Given the description of an element on the screen output the (x, y) to click on. 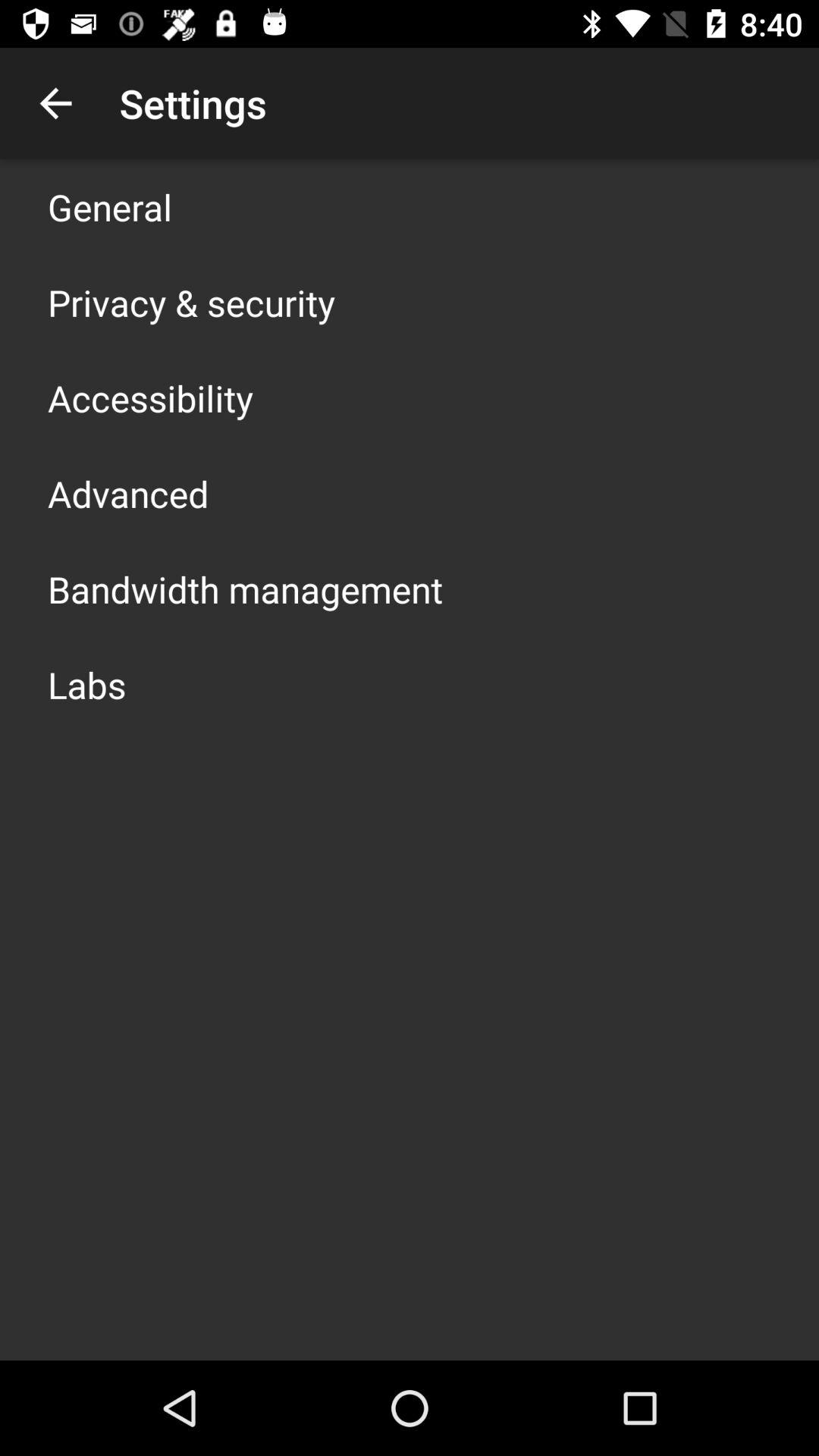
choose the item above the accessibility icon (190, 302)
